Given the description of an element on the screen output the (x, y) to click on. 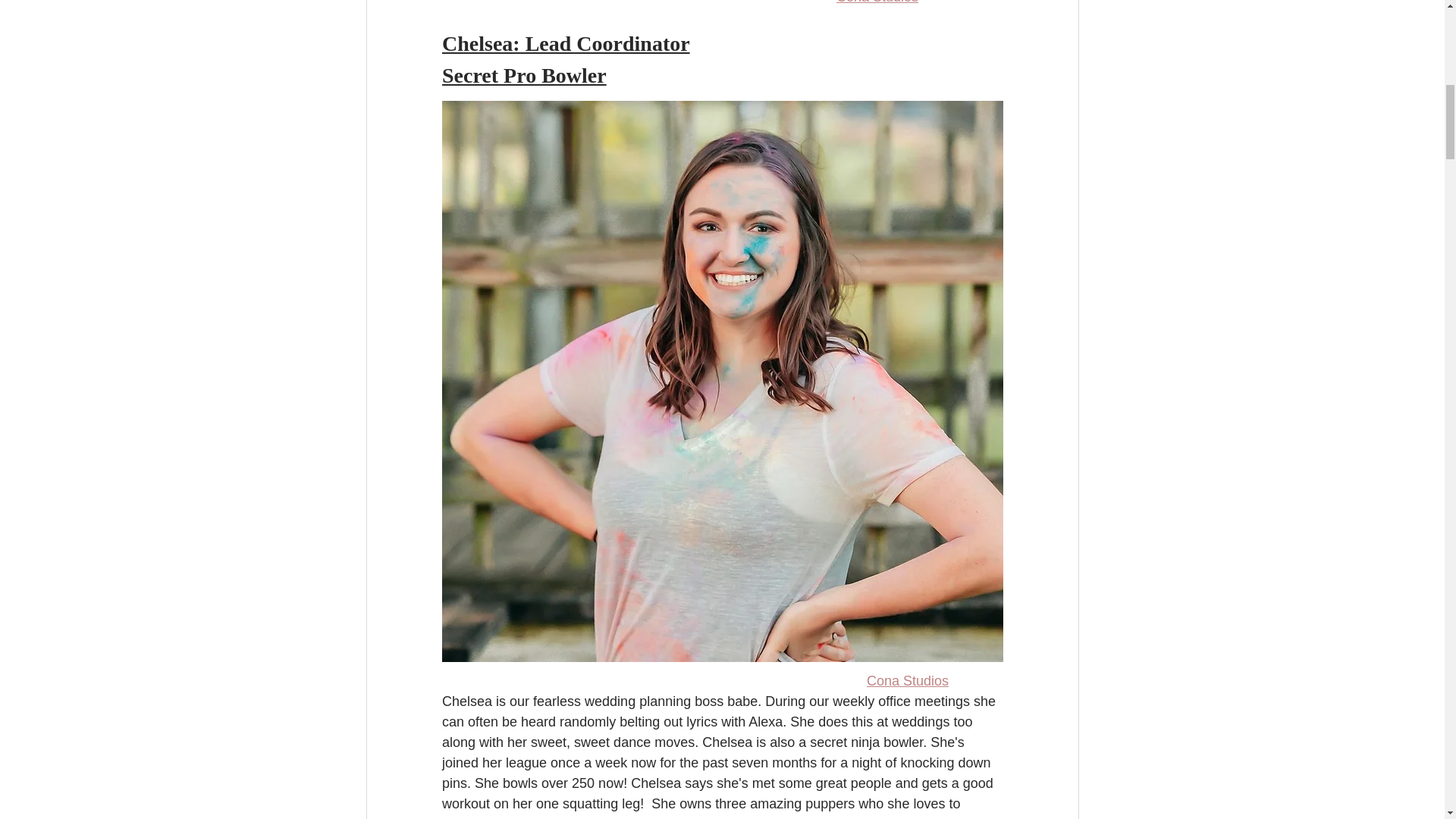
Cona Studios (906, 680)
Cona Studios (876, 2)
